Given the description of an element on the screen output the (x, y) to click on. 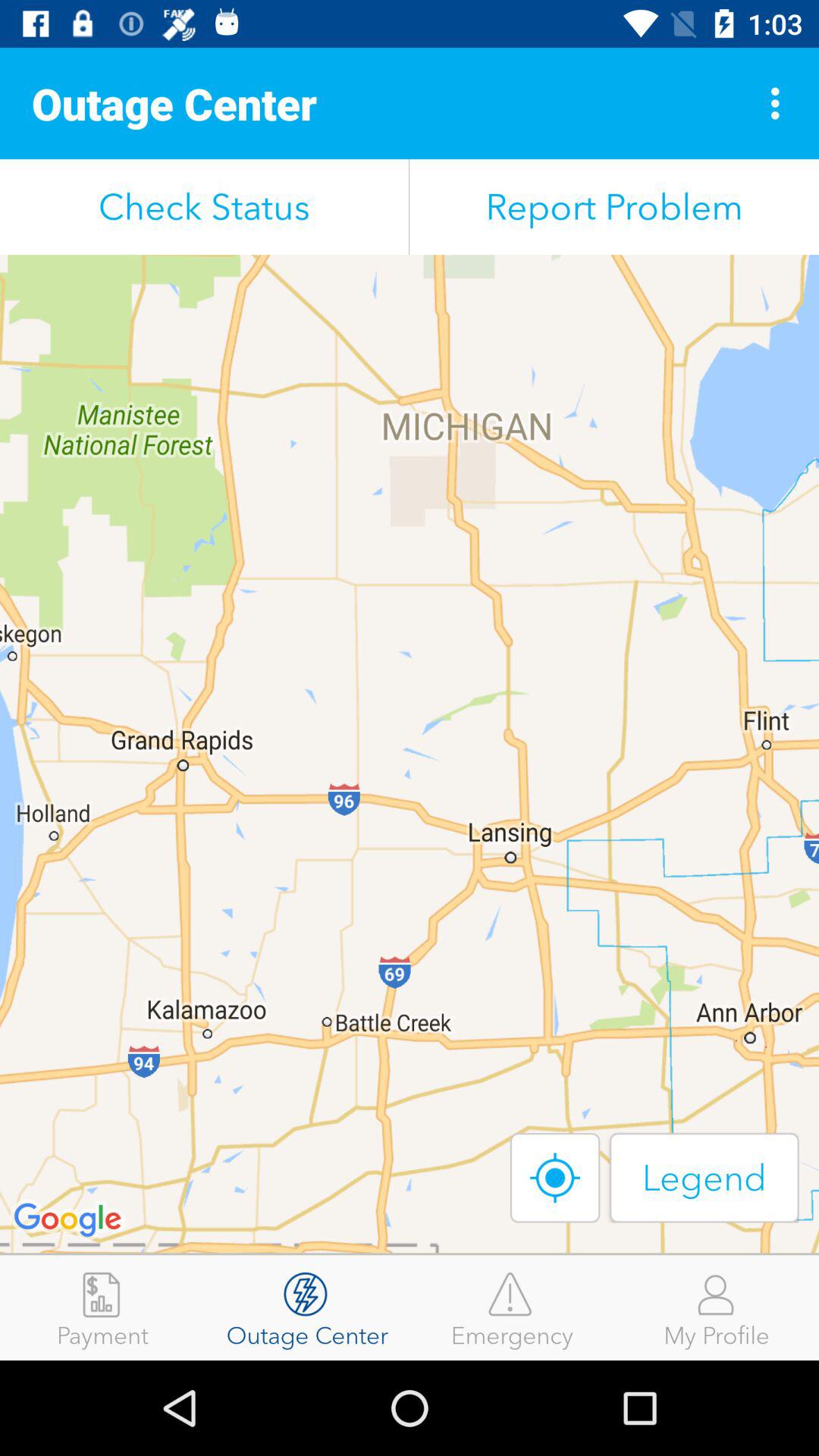
click the icon next to legend icon (555, 1177)
